Given the description of an element on the screen output the (x, y) to click on. 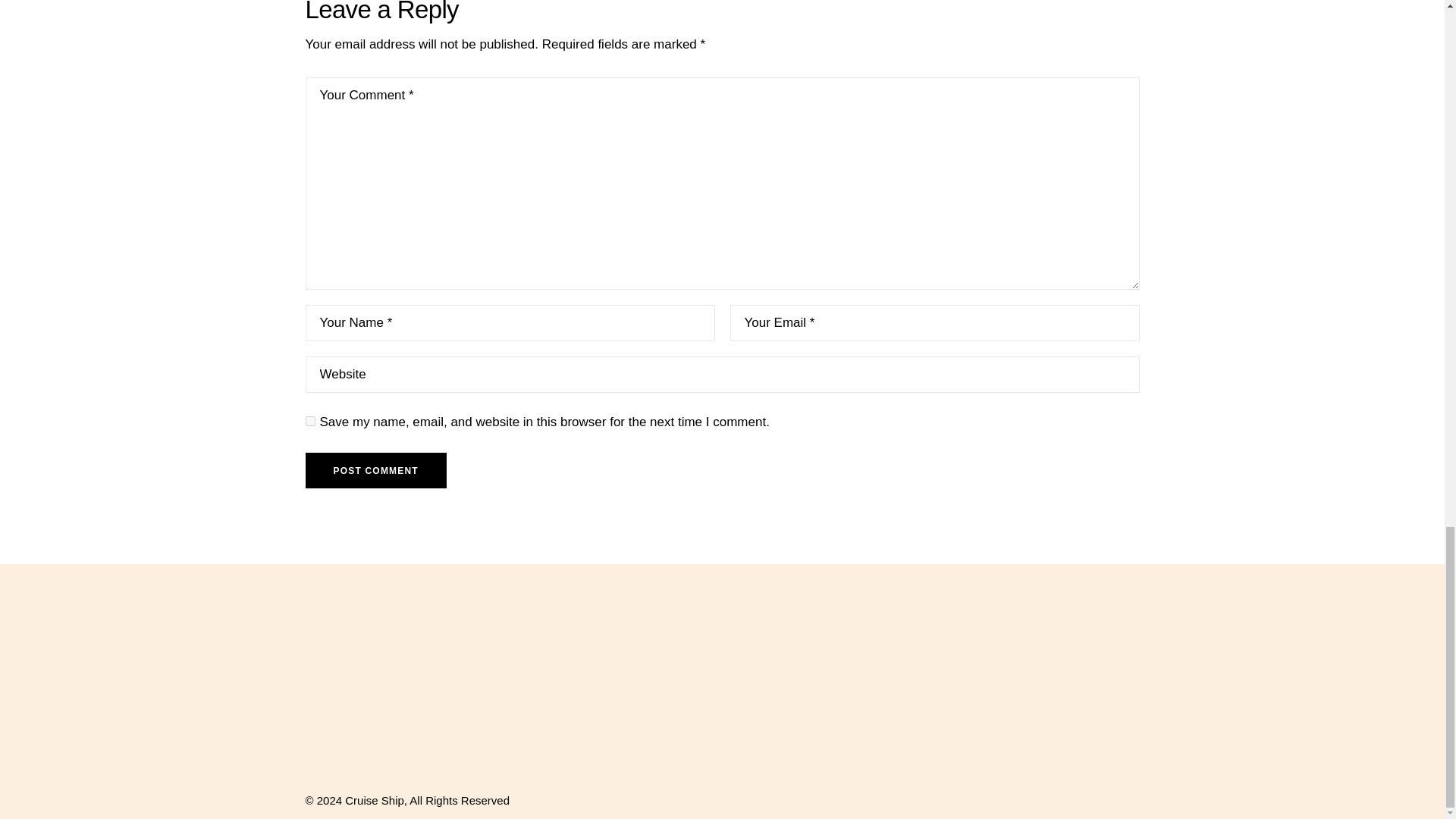
Cruise Ship (374, 799)
yes (309, 420)
POST COMMENT (374, 470)
